Given the description of an element on the screen output the (x, y) to click on. 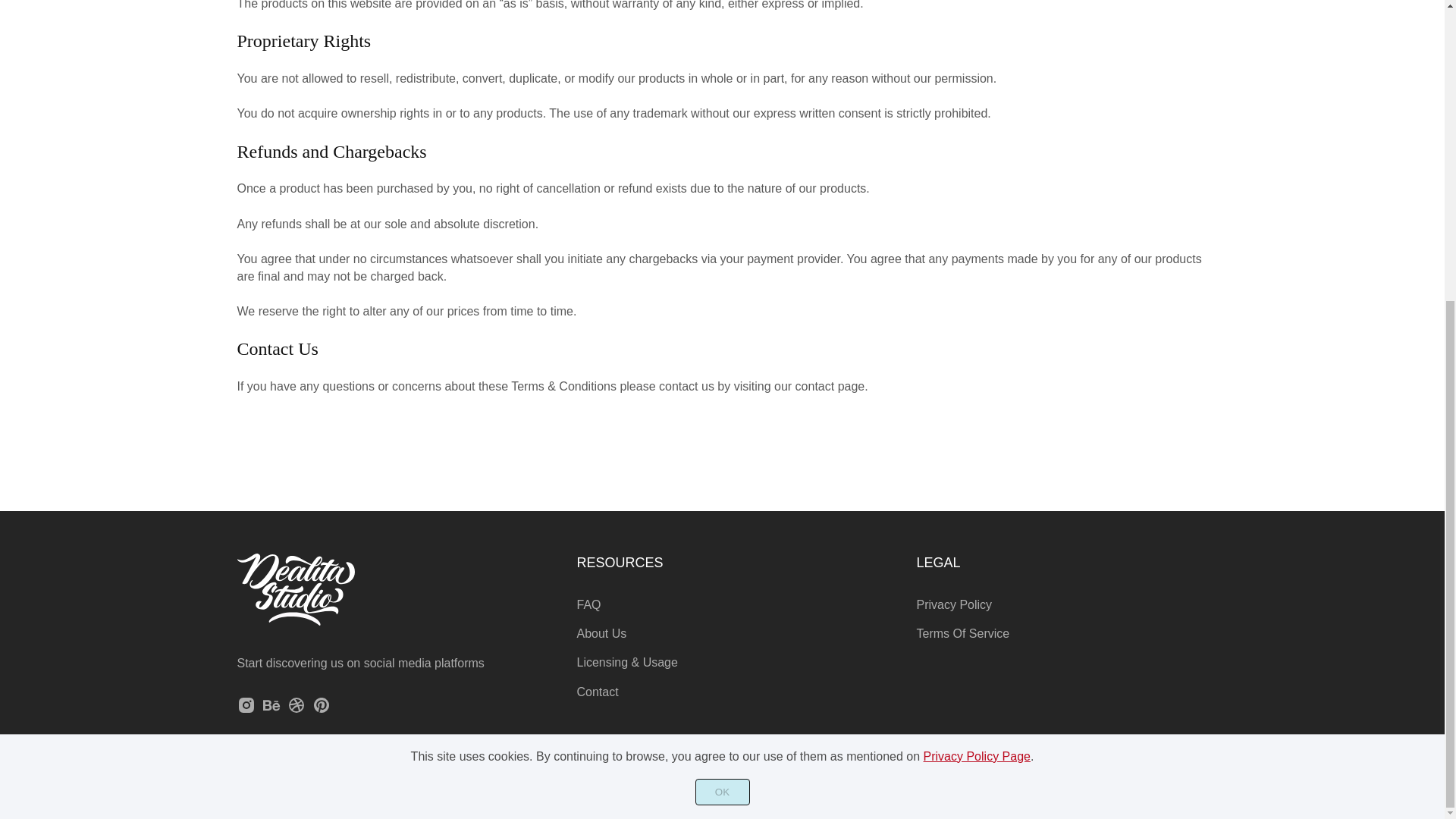
Go to Privacy Policy Page (976, 287)
Privacy Policy Page (976, 287)
Open Pinterest (321, 709)
Terms Of Service (962, 633)
Open Instagram (244, 709)
Privacy Policy (953, 604)
Open Dribble (295, 709)
Open Behance (271, 709)
FAQ (587, 604)
Contact (596, 691)
OK (721, 323)
